Given the description of an element on the screen output the (x, y) to click on. 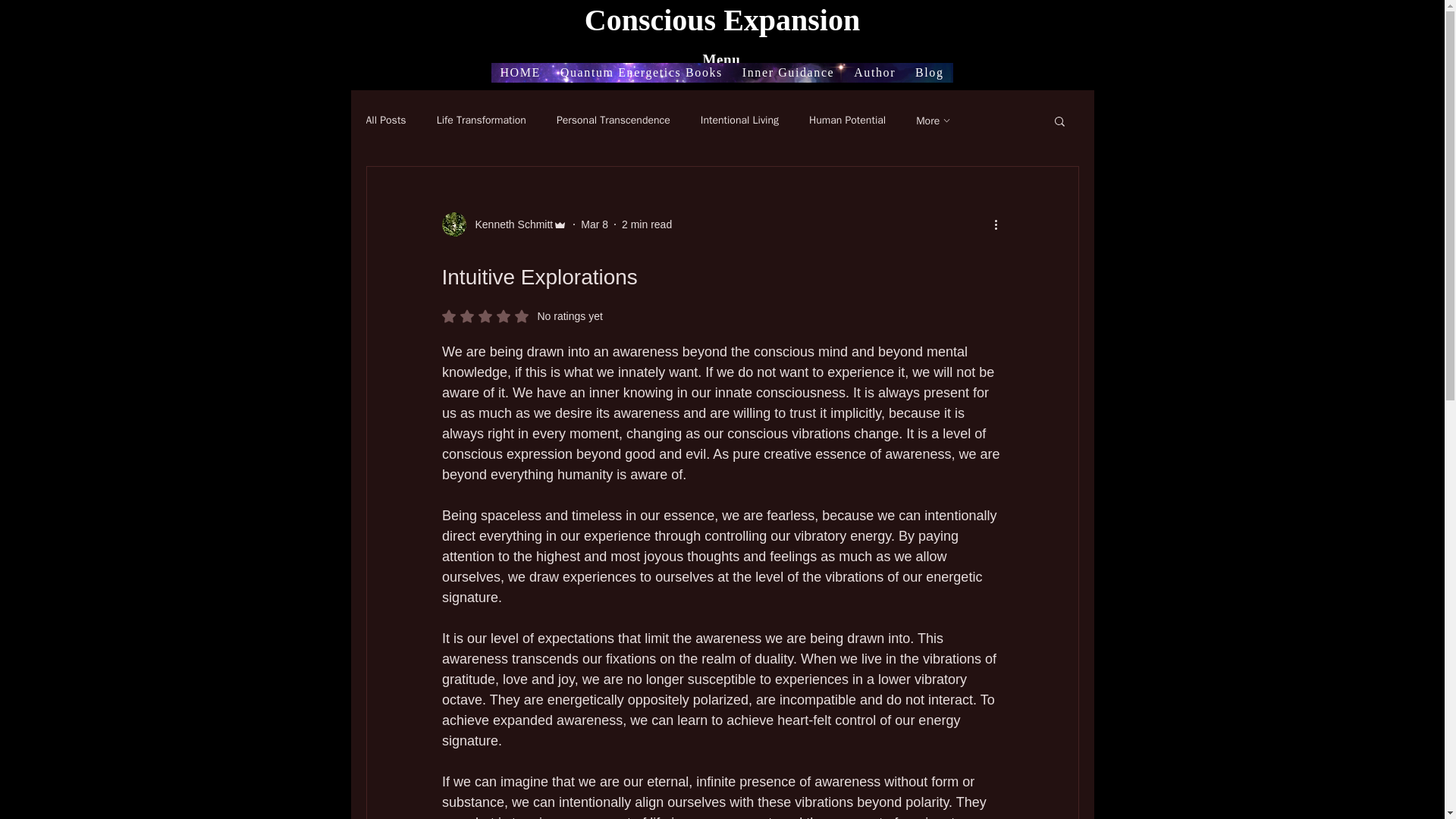
Inner Guidance (788, 72)
Author (874, 72)
Kenneth Schmitt (509, 224)
2 min read (646, 224)
All Posts (385, 120)
Intentional Living (739, 120)
Mar 8 (594, 224)
Blog (928, 72)
Kenneth Schmitt (504, 224)
Life Transformation (480, 120)
